Given the description of an element on the screen output the (x, y) to click on. 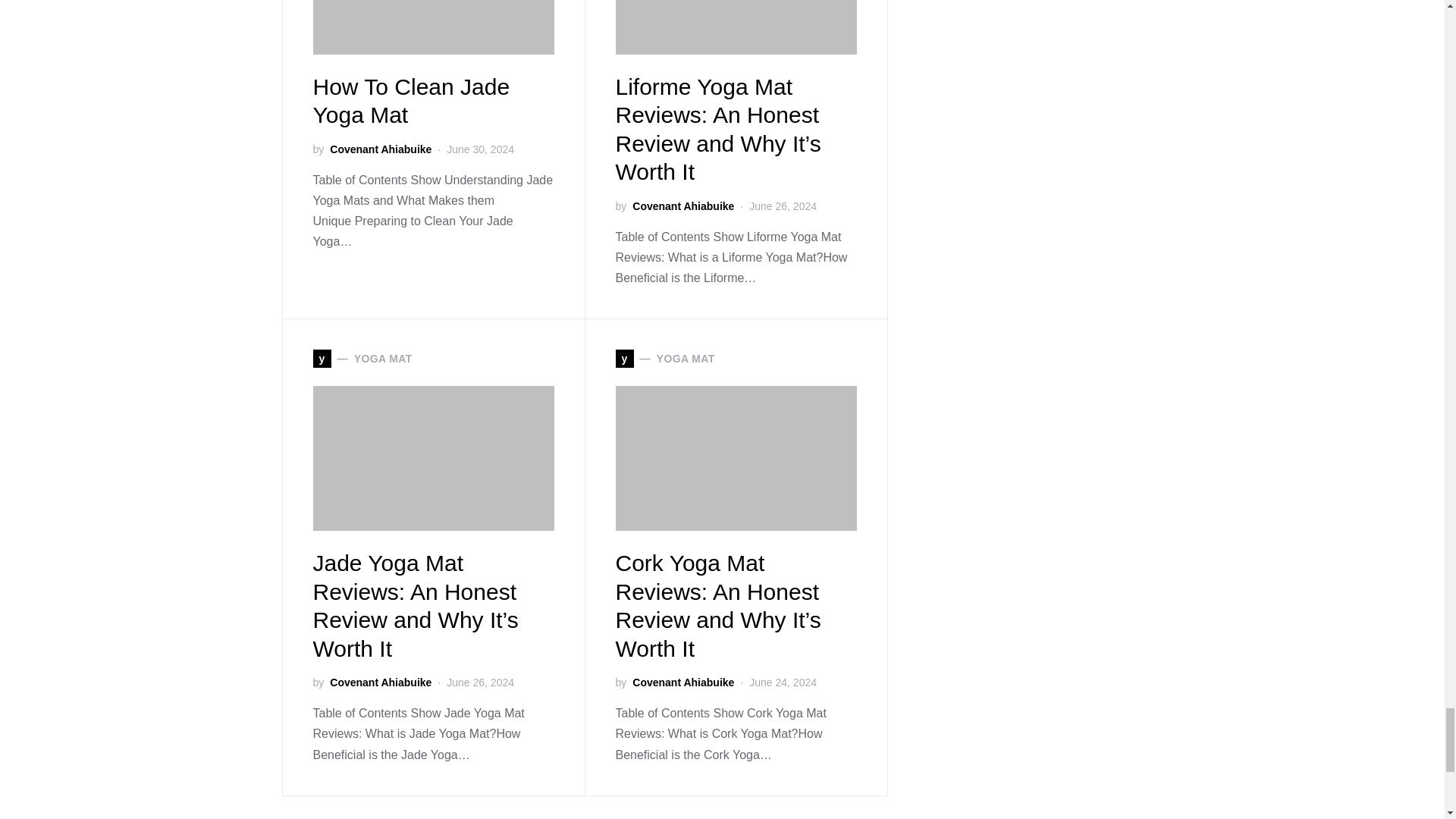
View all posts by Covenant Ahiabuike (380, 149)
View all posts by Covenant Ahiabuike (682, 206)
View all posts by Covenant Ahiabuike (682, 682)
View all posts by Covenant Ahiabuike (380, 682)
